Given the description of an element on the screen output the (x, y) to click on. 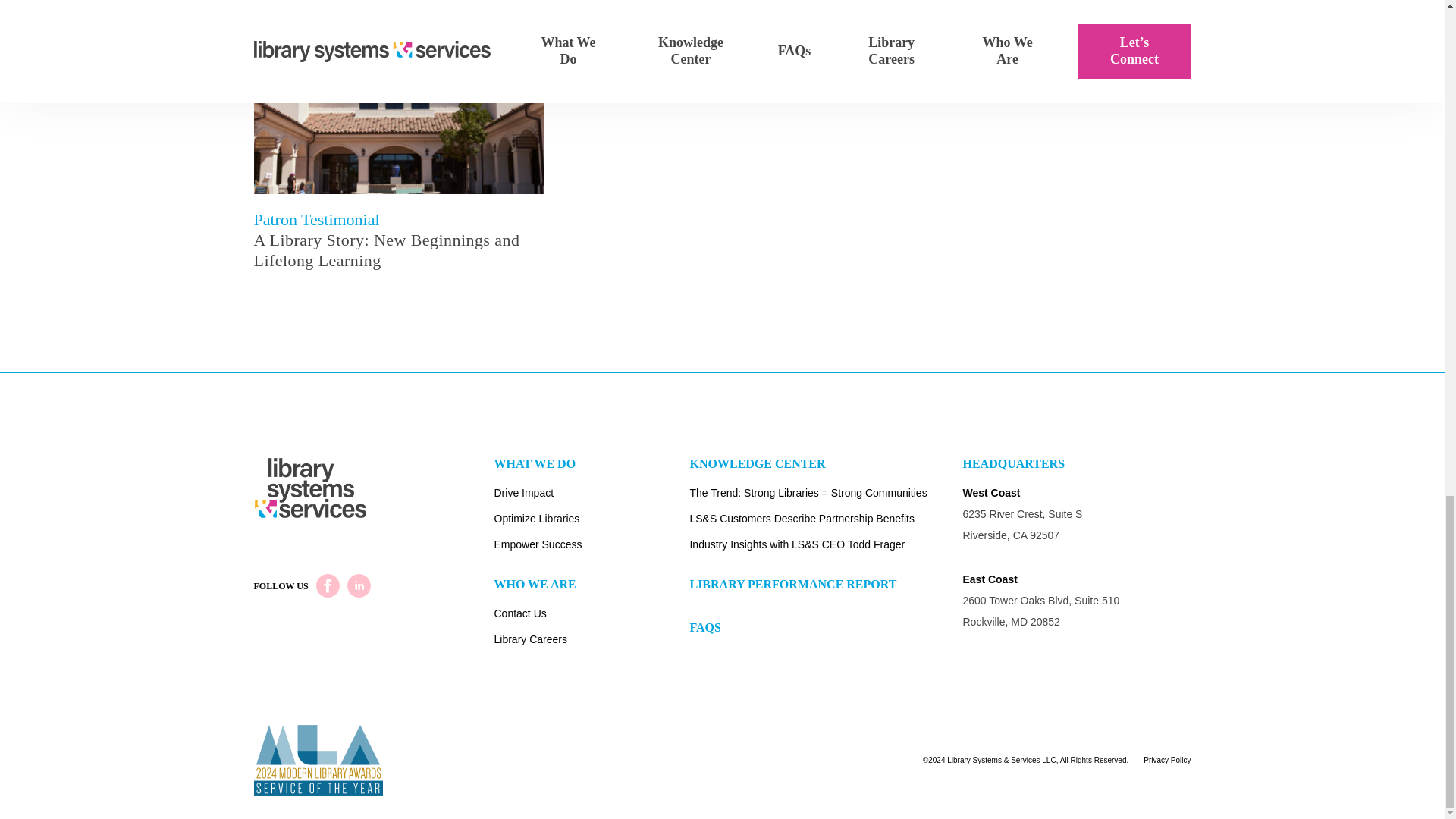
Optimize Libraries (592, 520)
BACK TO THE KNOWLEDGE CENTER (722, 8)
Library Careers (592, 641)
Drive Impact (592, 494)
Empower Success (592, 546)
KNOWLEDGE CENTER (819, 469)
WHO WE ARE (592, 589)
Contact Us (592, 615)
WHAT WE DO (592, 469)
A Library Story: New Beginnings and Lifelong Learning (398, 250)
